Given the description of an element on the screen output the (x, y) to click on. 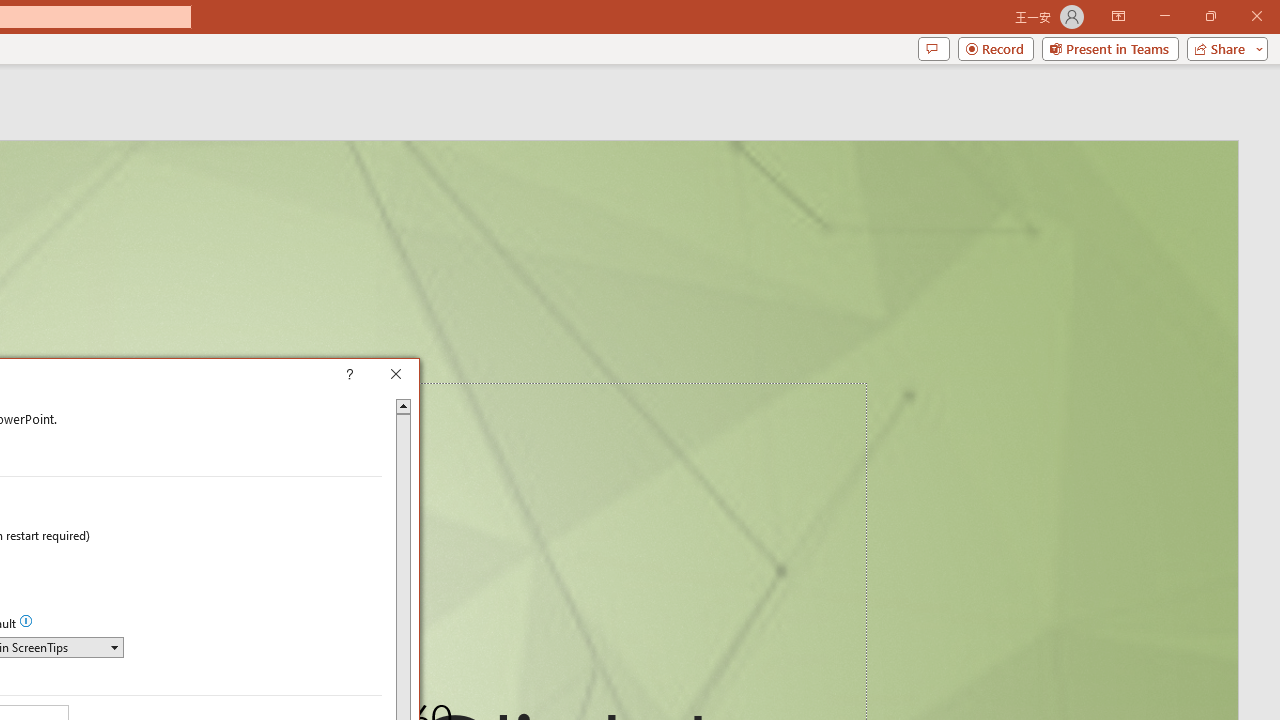
Context help (378, 376)
Open (114, 646)
Line up (403, 404)
